Given the description of an element on the screen output the (x, y) to click on. 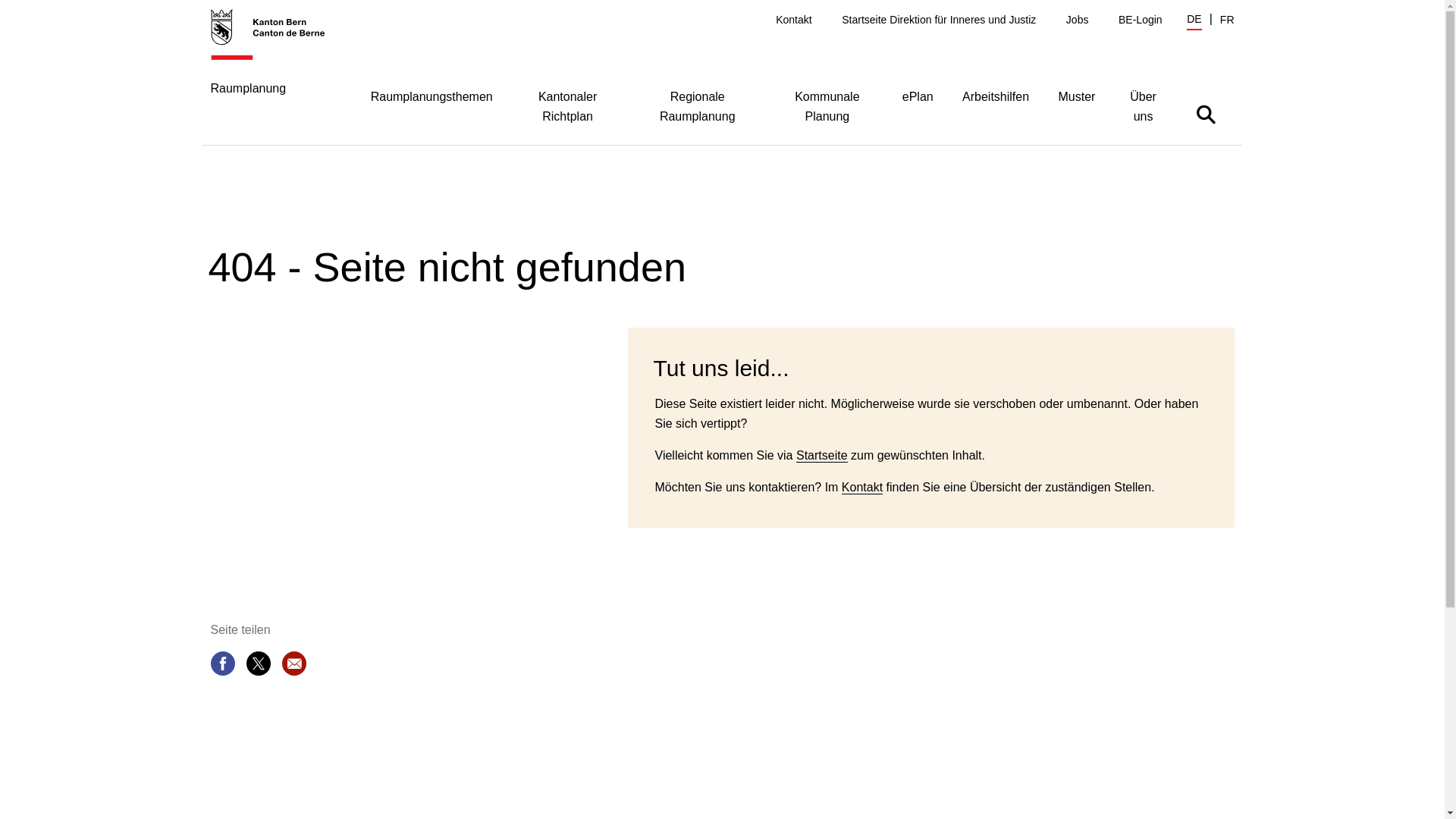
Seite teilen Element type: text (257, 666)
ePlan Element type: text (917, 94)
Raumplanung Element type: text (275, 68)
FR Element type: text (1227, 19)
Seite teilen Element type: text (222, 666)
Kantonaler Richtplan Element type: text (567, 104)
Kommunale Planung Element type: text (826, 104)
Raumplanungsthemen Element type: text (431, 94)
BE-Login Element type: text (1140, 19)
Regionale Raumplanung Element type: text (696, 104)
Jobs Element type: text (1077, 19)
Kontakt Element type: text (793, 19)
Startseite Element type: text (821, 455)
Muster Element type: text (1076, 94)
Arbeitshilfen Element type: text (995, 94)
Suche ein- oder ausblenden Element type: text (1205, 113)
DE Element type: text (1193, 21)
Kontakt Element type: text (861, 487)
